Given the description of an element on the screen output the (x, y) to click on. 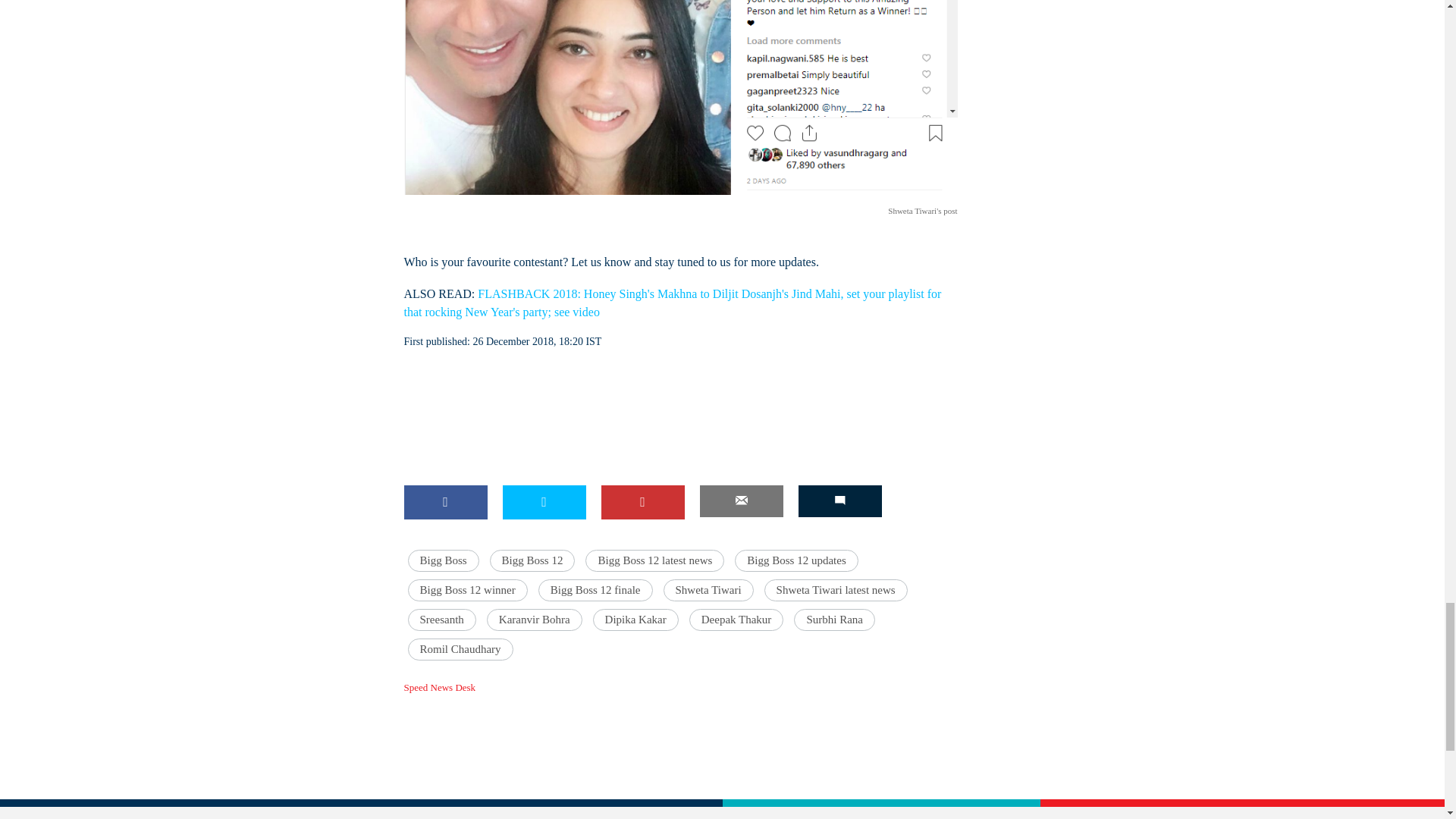
Bigg Boss 12 updates (796, 560)
Bigg Boss (443, 560)
Bigg Boss 12 latest news (654, 560)
Bigg Boss 12 (532, 560)
Bigg Boss 12 winner (467, 590)
